Given the description of an element on the screen output the (x, y) to click on. 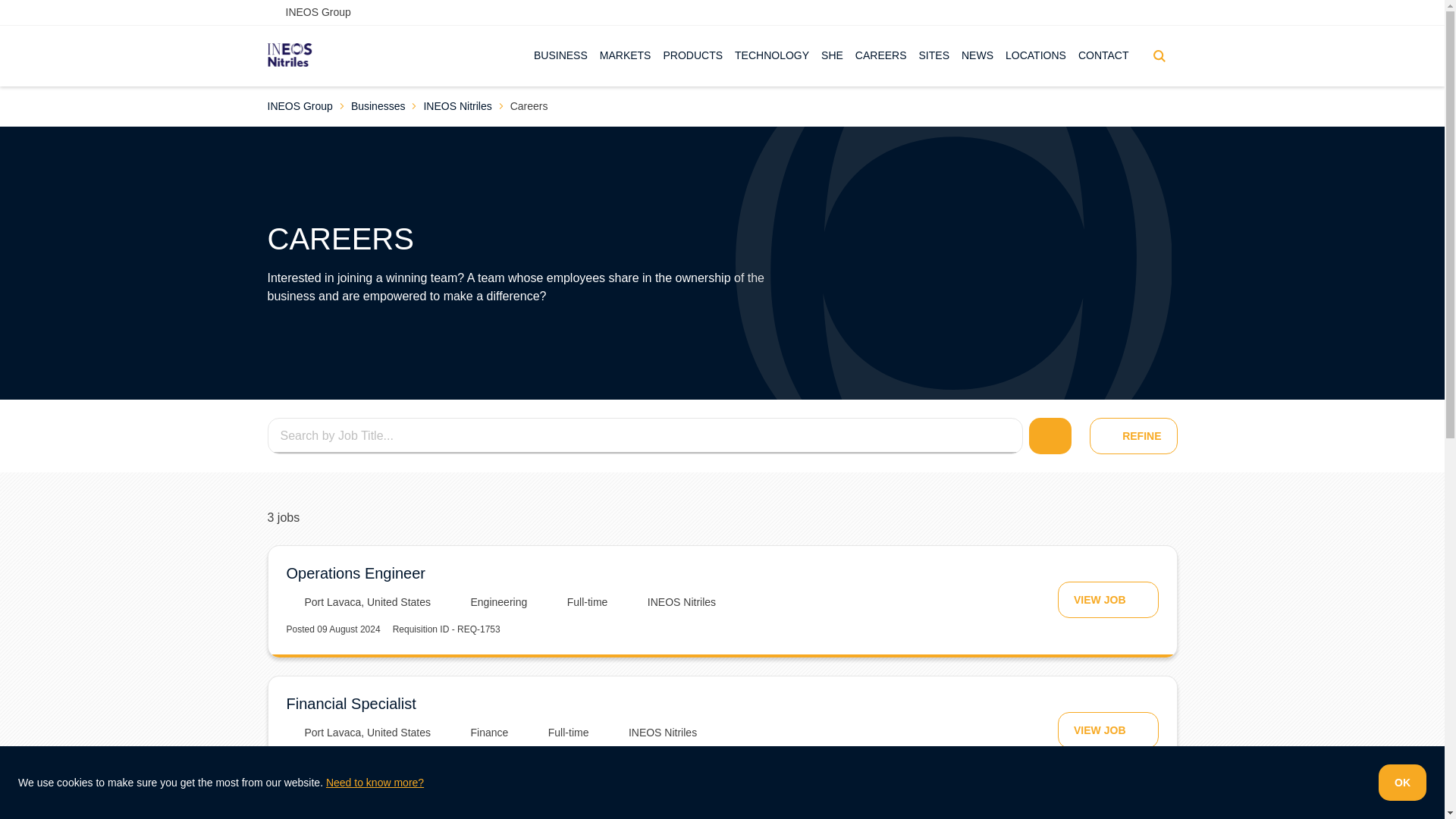
INEOS Group (298, 106)
INEOS Nitriles (457, 106)
VIEW JOB (1107, 599)
Operations Engineer (355, 573)
VIEW JOB (1107, 729)
Careers (529, 106)
REFINE (1132, 435)
LOCATIONS (1035, 55)
INEOS Group (308, 12)
Financial Specialist (351, 703)
